Given the description of an element on the screen output the (x, y) to click on. 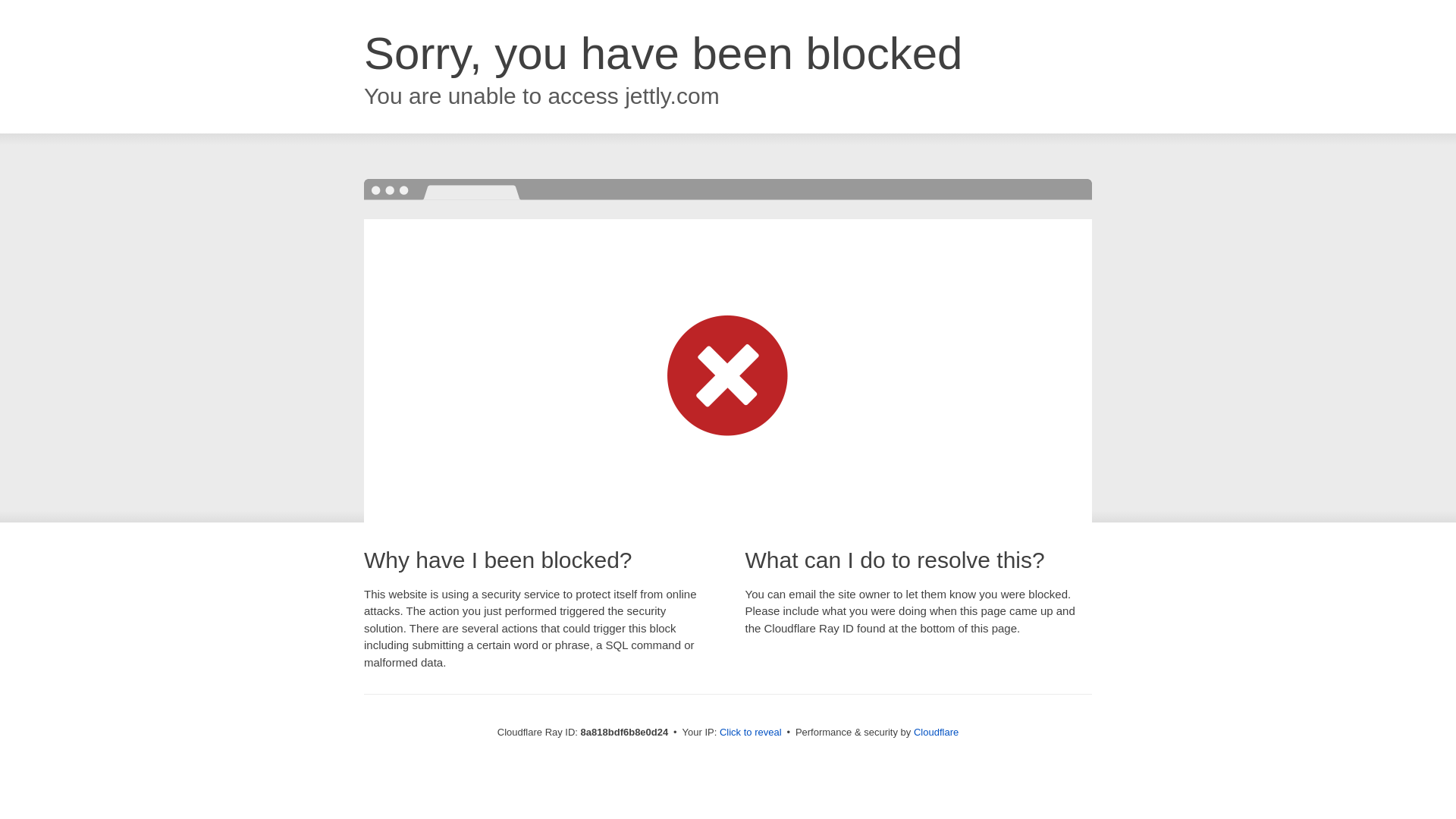
Cloudflare (936, 731)
Click to reveal (750, 732)
